Given the description of an element on the screen output the (x, y) to click on. 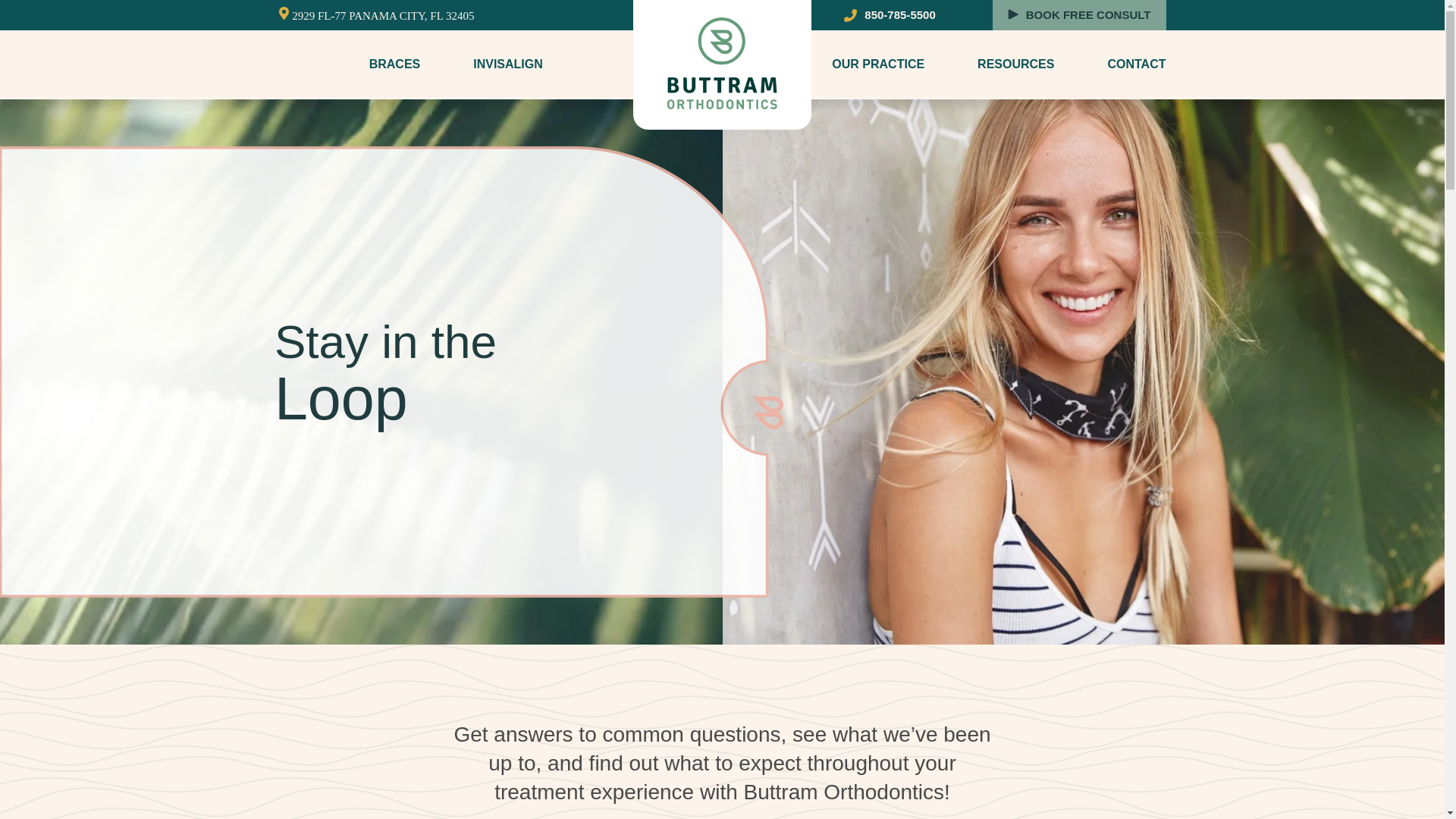
850-785-5500 (895, 14)
BOOK FREE CONSULT (1088, 14)
INVISALIGN (508, 64)
OUR PRACTICE (877, 64)
RESOURCES (1015, 64)
BRACES (394, 64)
CONTACT (1136, 64)
2929 FL-77 PANAMA CITY, FL 32405 (383, 15)
